Given the description of an element on the screen output the (x, y) to click on. 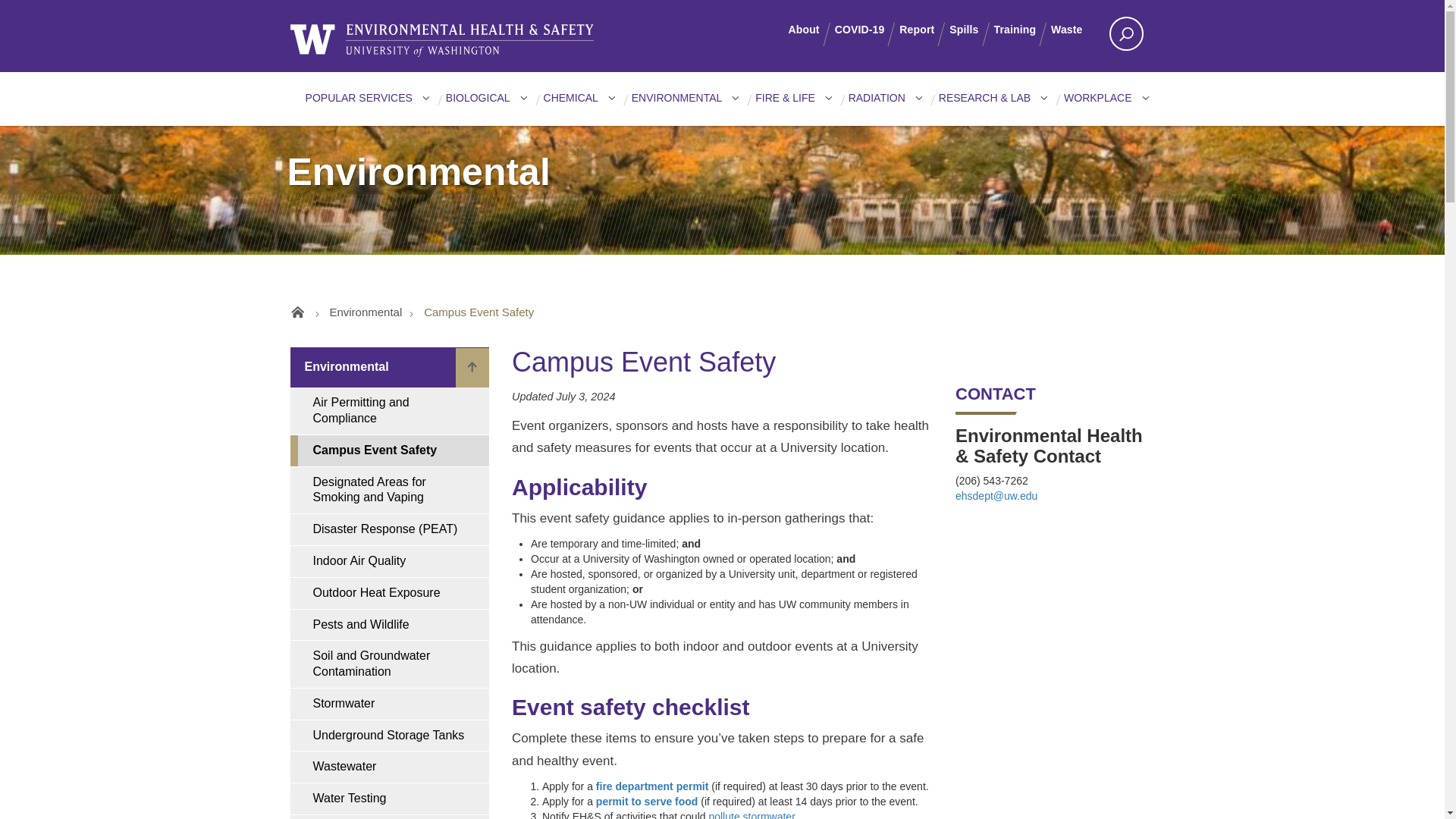
COVID-19 (866, 30)
Report (924, 30)
Training (1021, 30)
About (811, 30)
Waste (1074, 30)
POPULAR SERVICES (366, 104)
Search (337, 15)
Spills (970, 30)
EHS (440, 44)
BIOLOGICAL (485, 104)
